Given the description of an element on the screen output the (x, y) to click on. 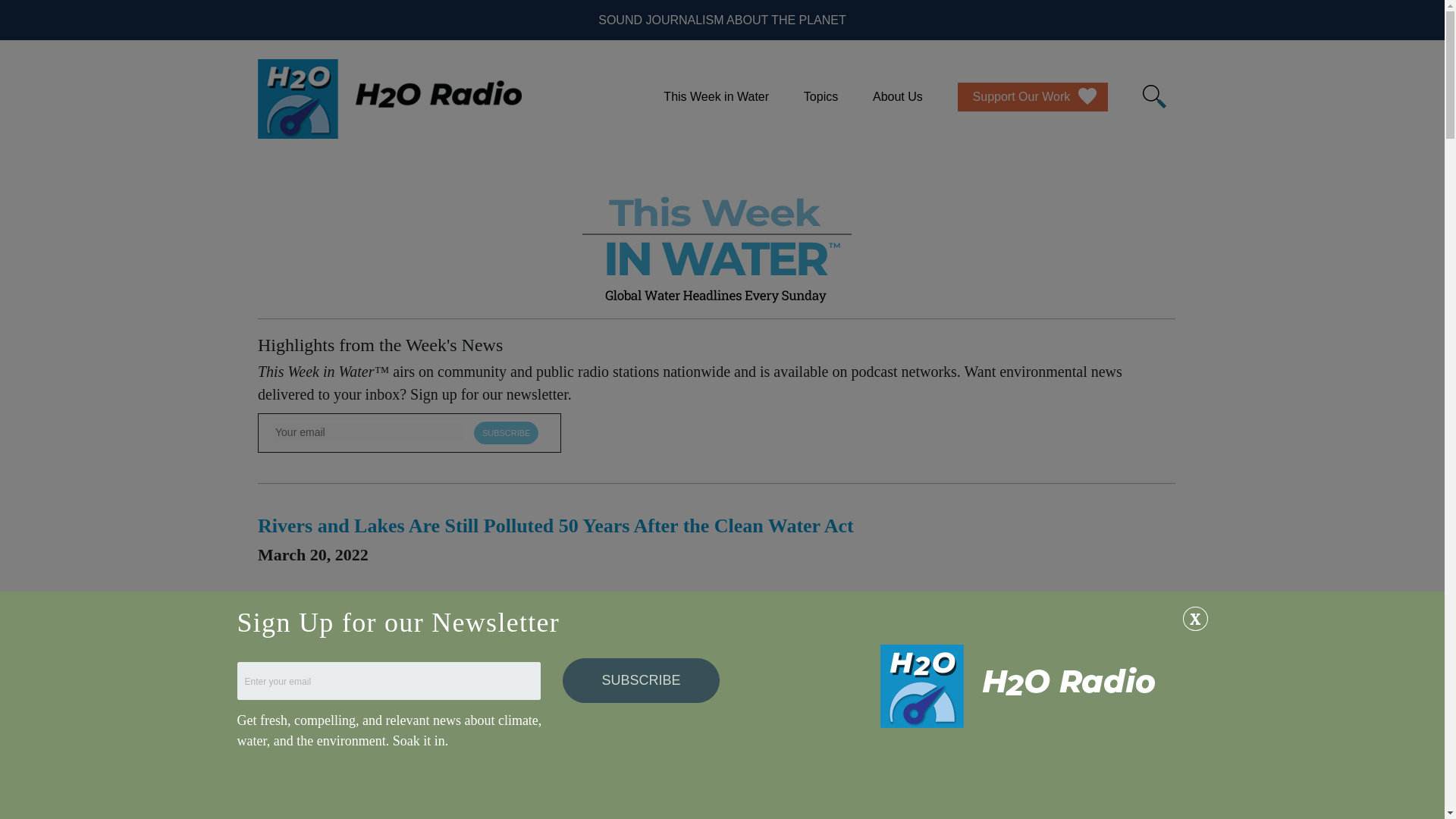
Subscribe (506, 432)
Home (389, 98)
Topics (820, 96)
This Week in Water (715, 96)
